Given the description of an element on the screen output the (x, y) to click on. 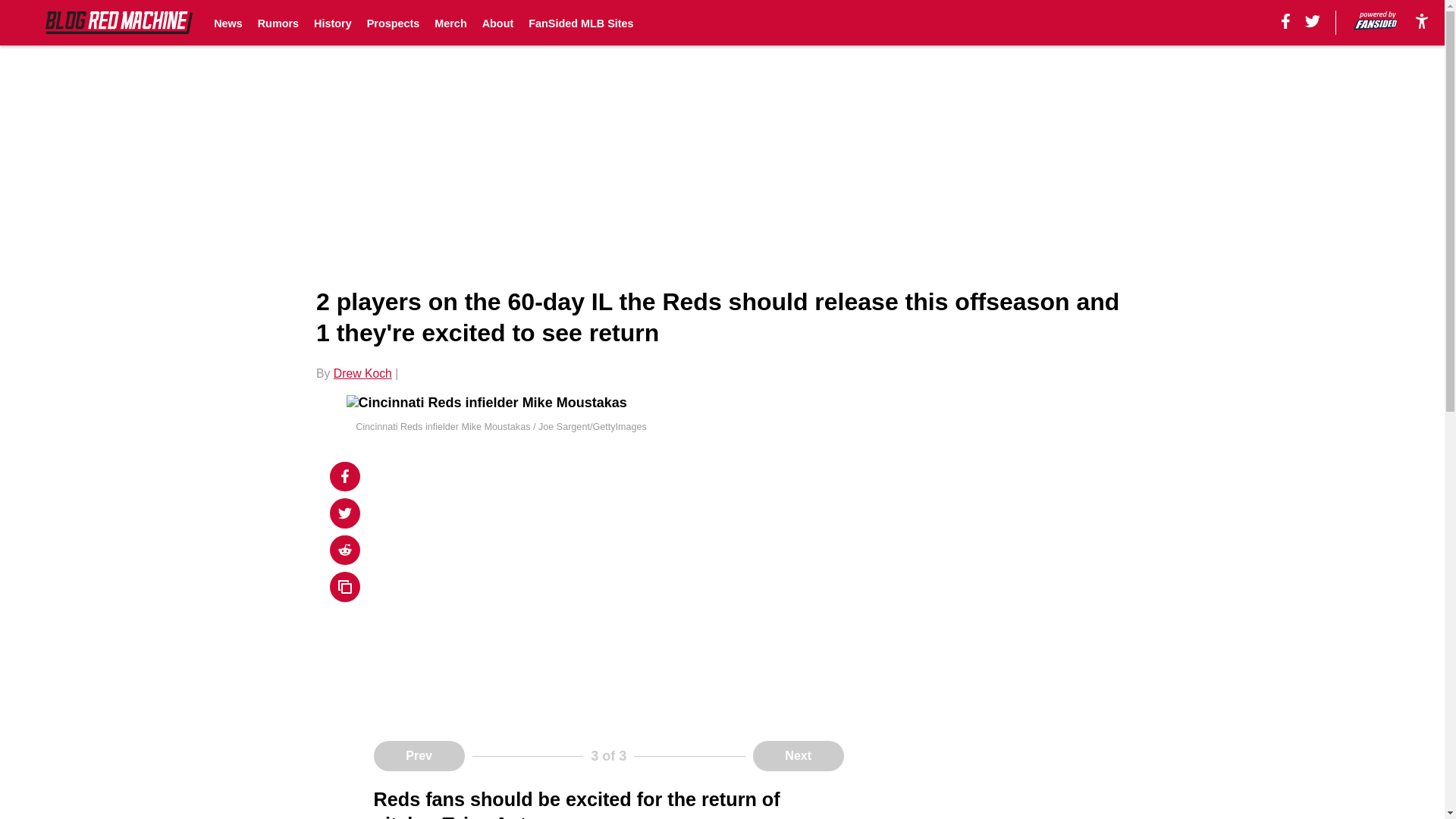
Prev (419, 756)
Prospects (393, 23)
About (497, 23)
FanSided MLB Sites (580, 23)
News (228, 23)
Next (798, 756)
Rumors (277, 23)
Merch (449, 23)
Drew Koch (362, 373)
History (333, 23)
